Given the description of an element on the screen output the (x, y) to click on. 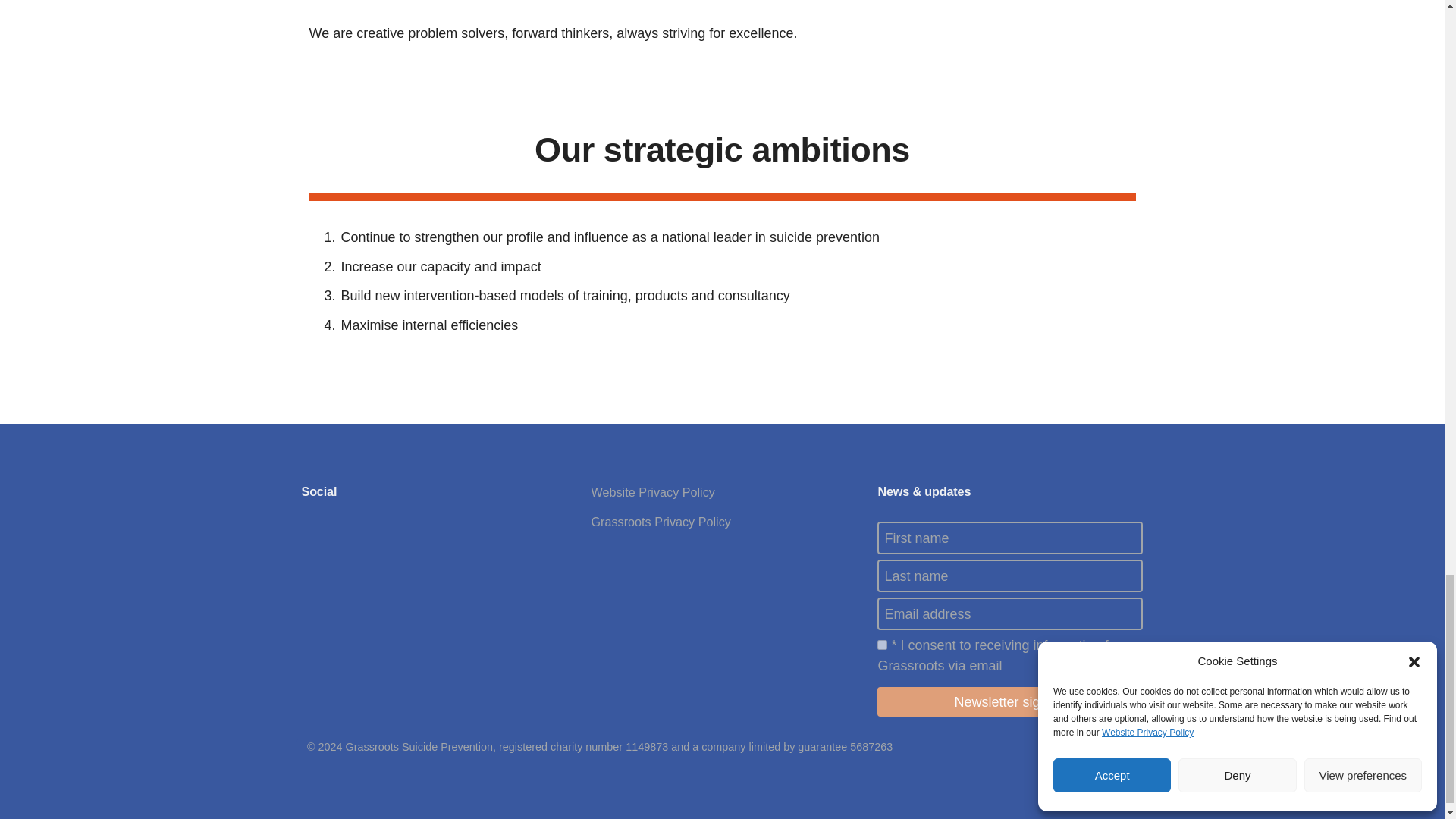
Newsletter sign up (1009, 701)
on (881, 644)
